Given the description of an element on the screen output the (x, y) to click on. 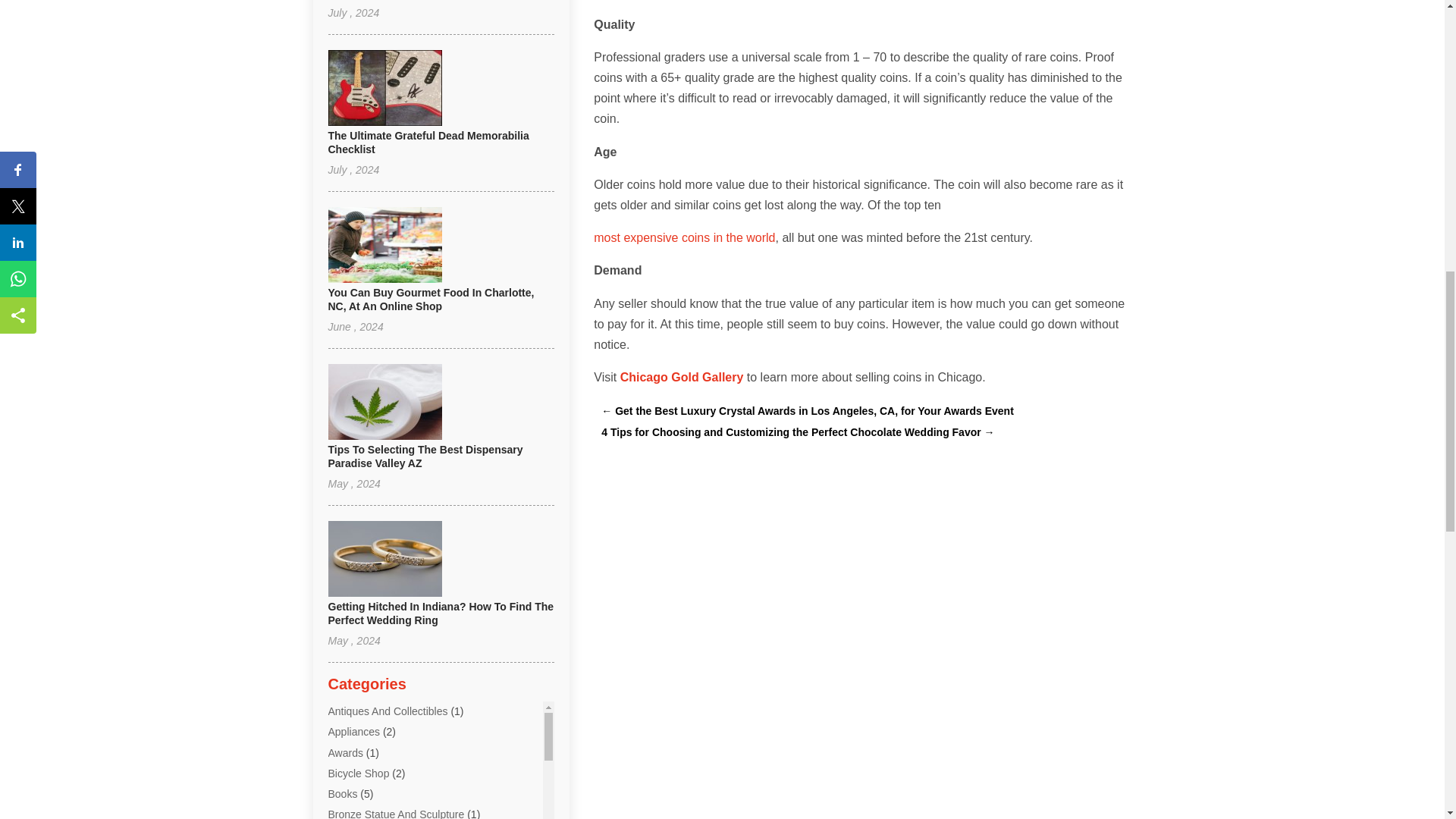
Antiques And Collectibles (386, 711)
Appliances (353, 731)
Bronze Statue And Sculpture (395, 813)
Bicycle Shop (357, 773)
Books (341, 793)
Tips To Selecting The Best Dispensary Paradise Valley AZ (424, 456)
Awards (344, 752)
The Ultimate Grateful Dead Memorabilia Checklist (427, 142)
You Can Buy Gourmet Food In Charlotte, NC, At An Online Shop (430, 299)
